Given the description of an element on the screen output the (x, y) to click on. 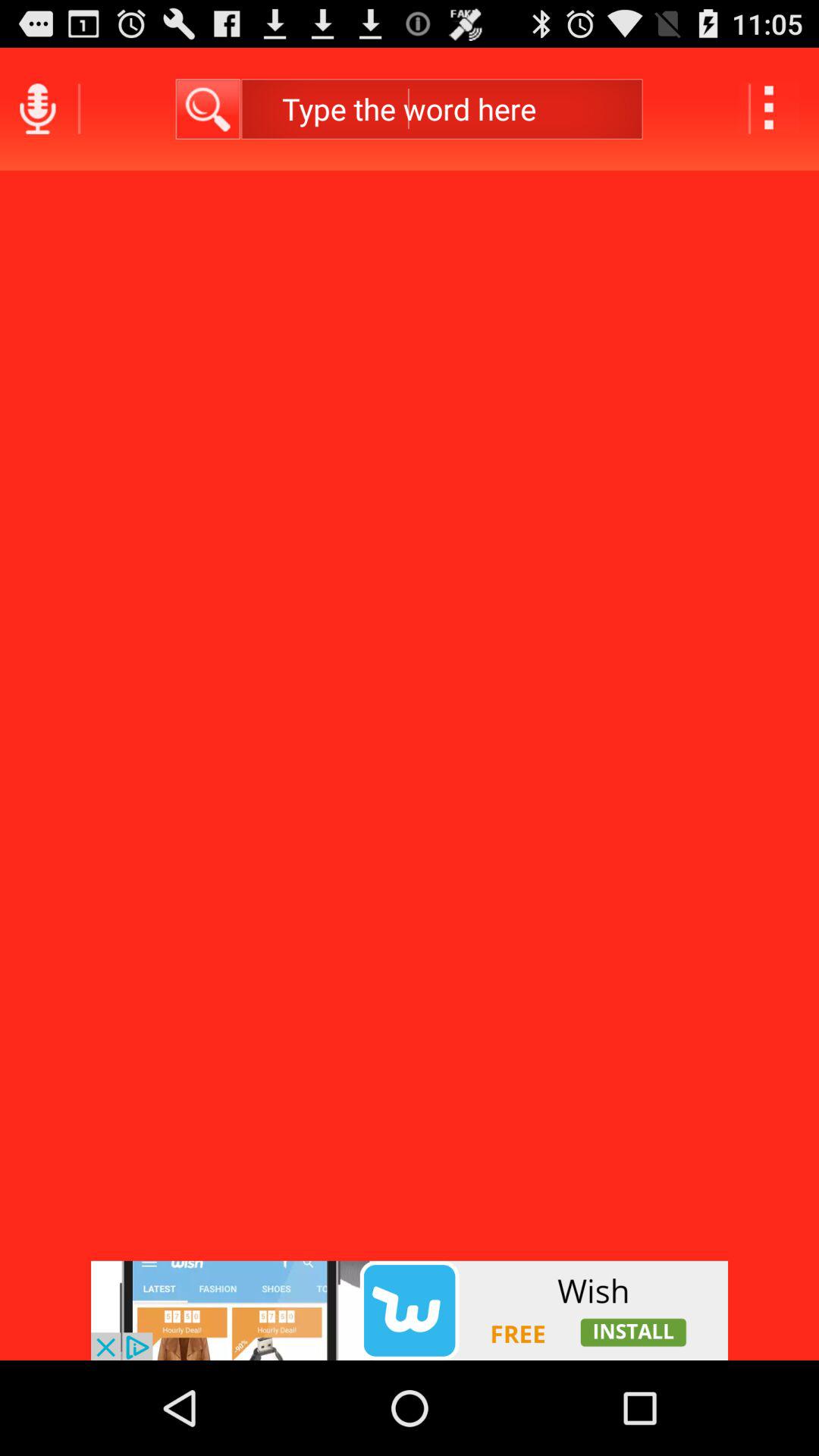
advertisement banner (409, 1310)
